Given the description of an element on the screen output the (x, y) to click on. 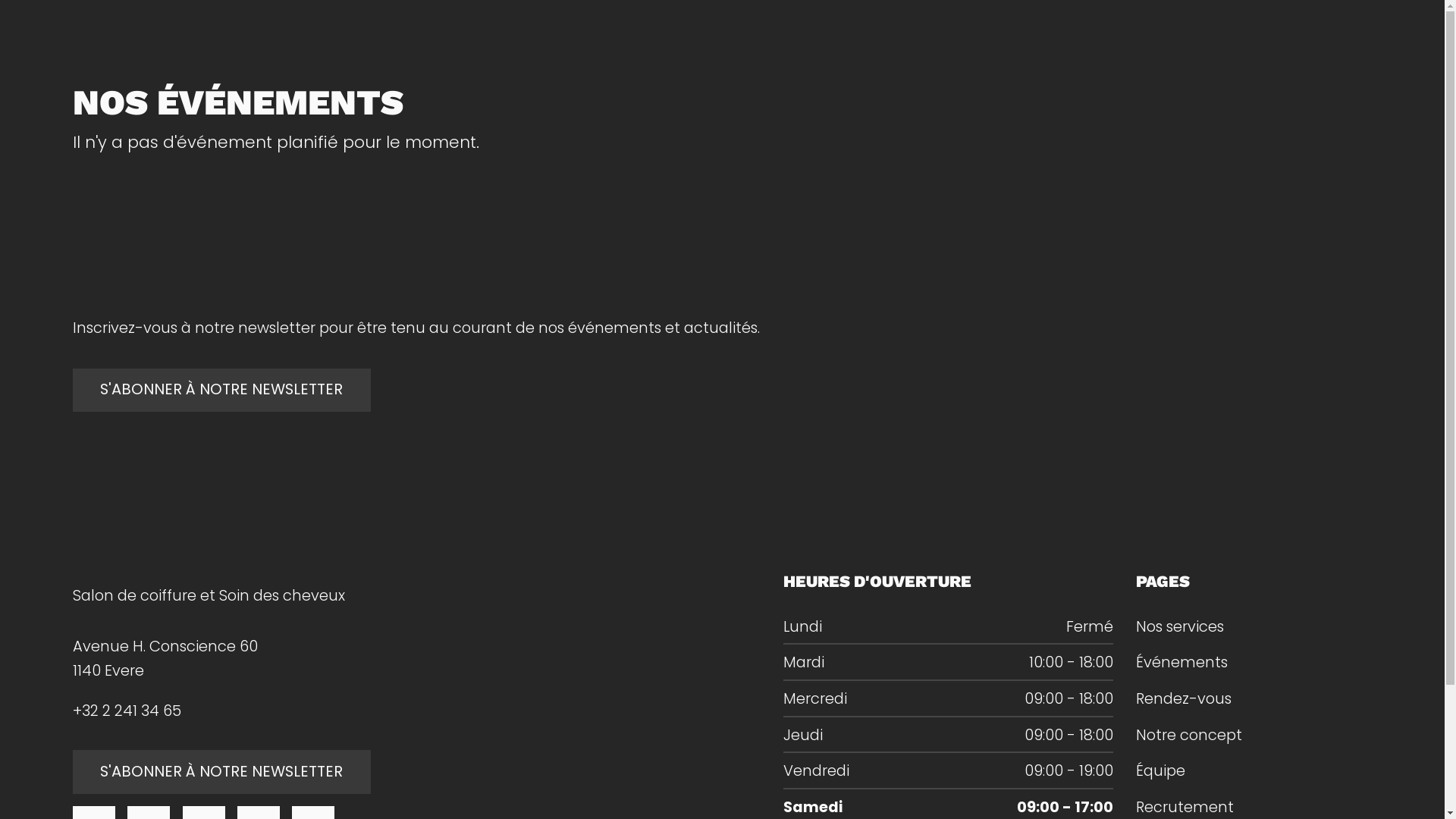
Nos services Element type: text (1179, 626)
COIFFURE ALEXANDRA COSTA Element type: text (721, 36)
Recrutement Element type: text (1184, 806)
Rendez-vous Element type: text (1183, 698)
+32 2 241 34 65 Element type: text (126, 710)
Notre concept Element type: text (1188, 734)
Avenue H. Conscience 60
1140 Evere Element type: text (164, 658)
